Given the description of an element on the screen output the (x, y) to click on. 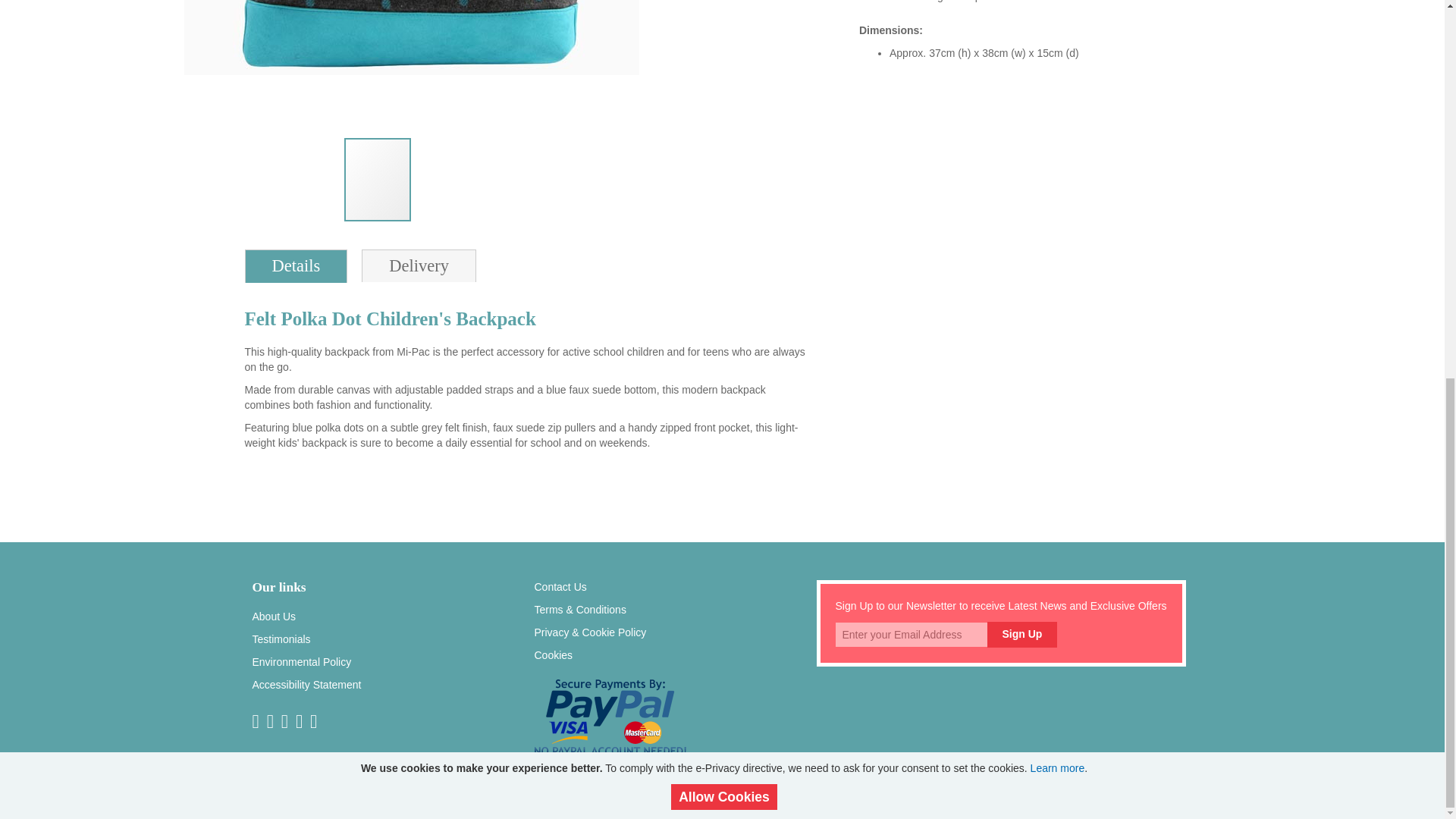
Learn more (1057, 69)
Sign Up (1022, 634)
Allow Cookies (724, 98)
